Given the description of an element on the screen output the (x, y) to click on. 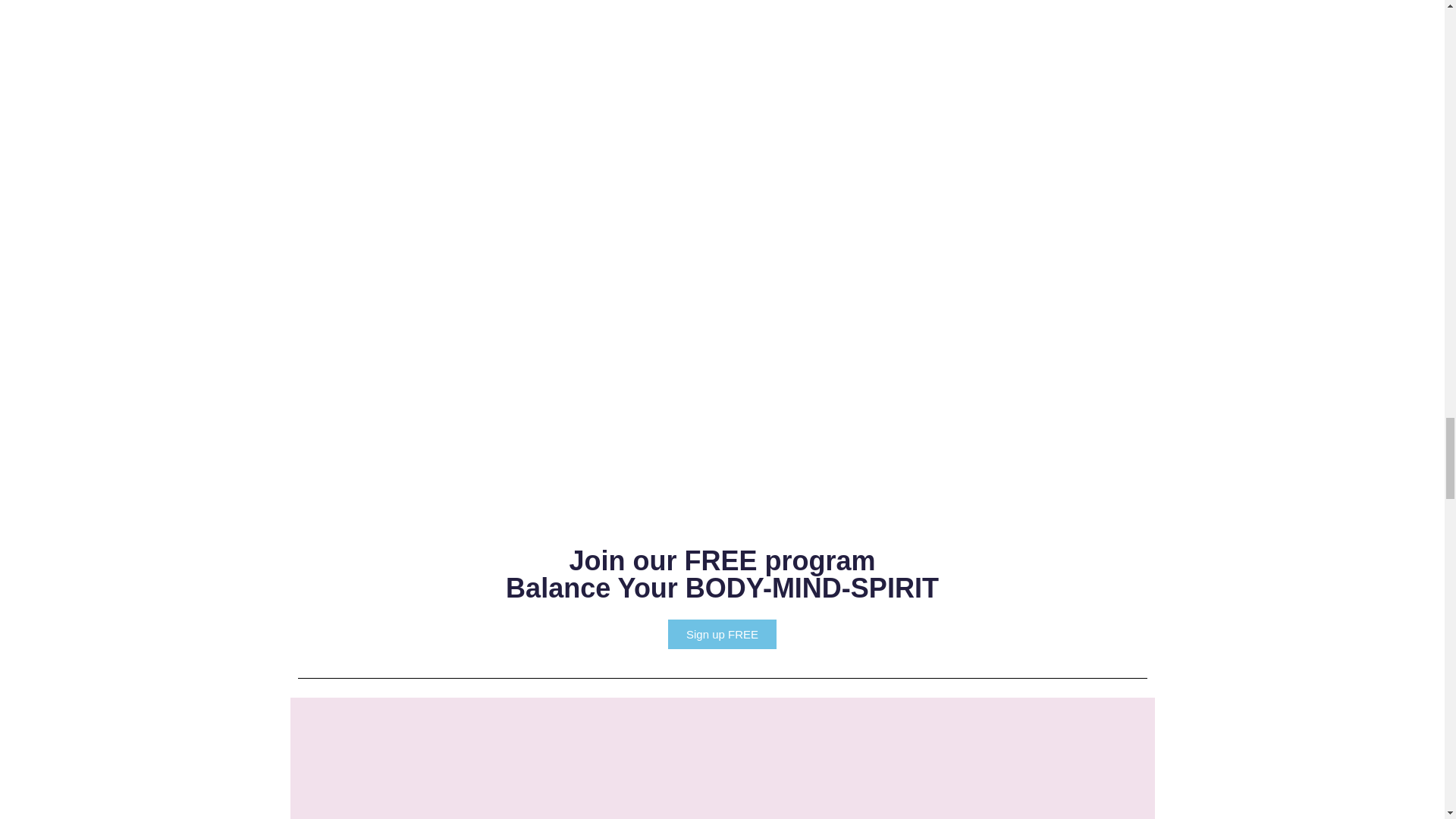
Primordial Sound Meditation 2 (632, 53)
Sign up FREE (722, 574)
